Given the description of an element on the screen output the (x, y) to click on. 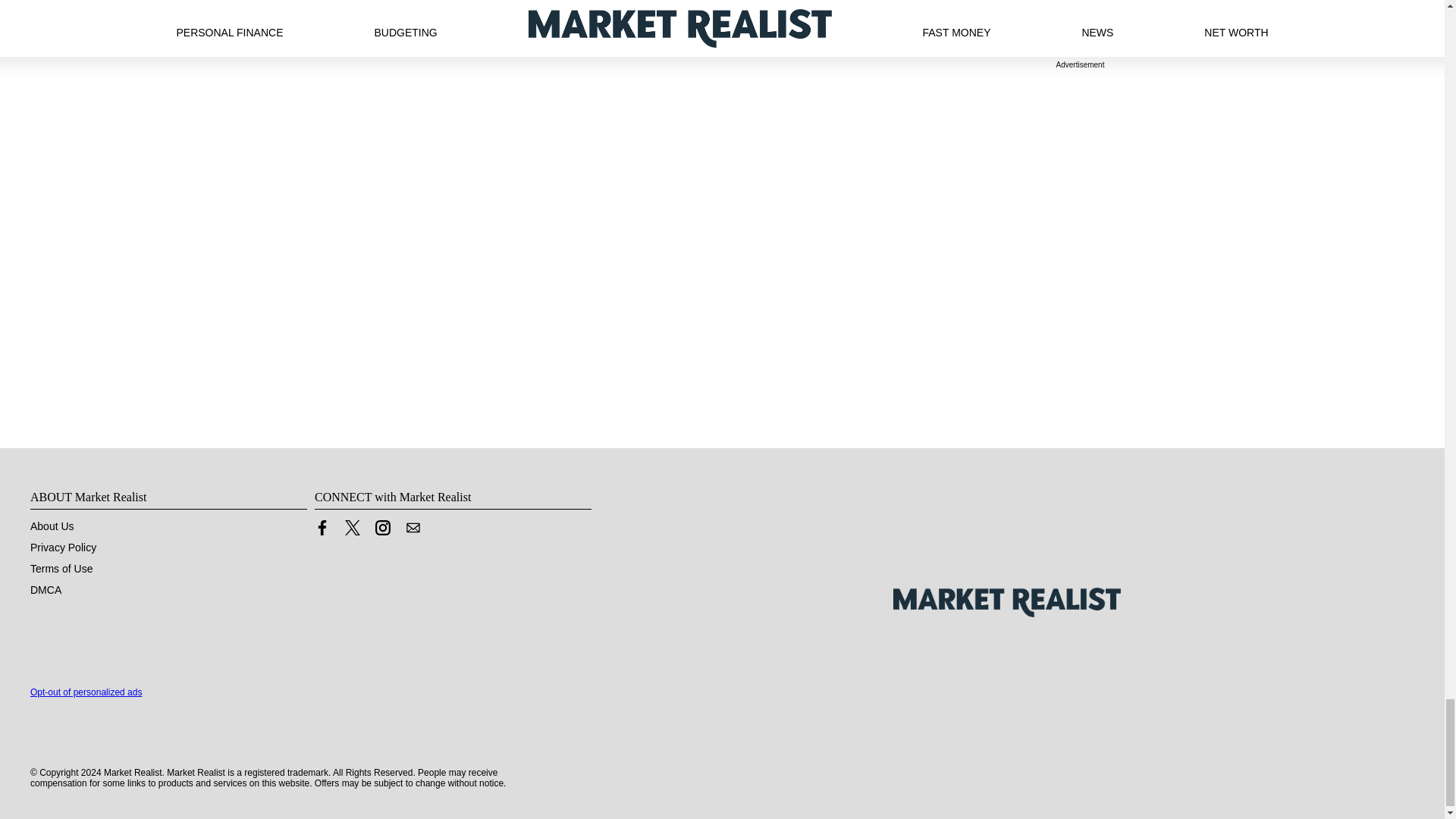
Link to X (352, 527)
Link to Facebook (322, 527)
Link to X (352, 531)
Terms of Use (61, 568)
Privacy Policy (63, 547)
About Us (52, 526)
Link to Instagram (382, 531)
DMCA (45, 589)
About Us (52, 526)
Link to Instagram (382, 527)
Contact us by Email (413, 527)
Link to Facebook (322, 531)
Contact us by Email (413, 531)
Privacy Policy (63, 547)
Terms of Use (61, 568)
